Given the description of an element on the screen output the (x, y) to click on. 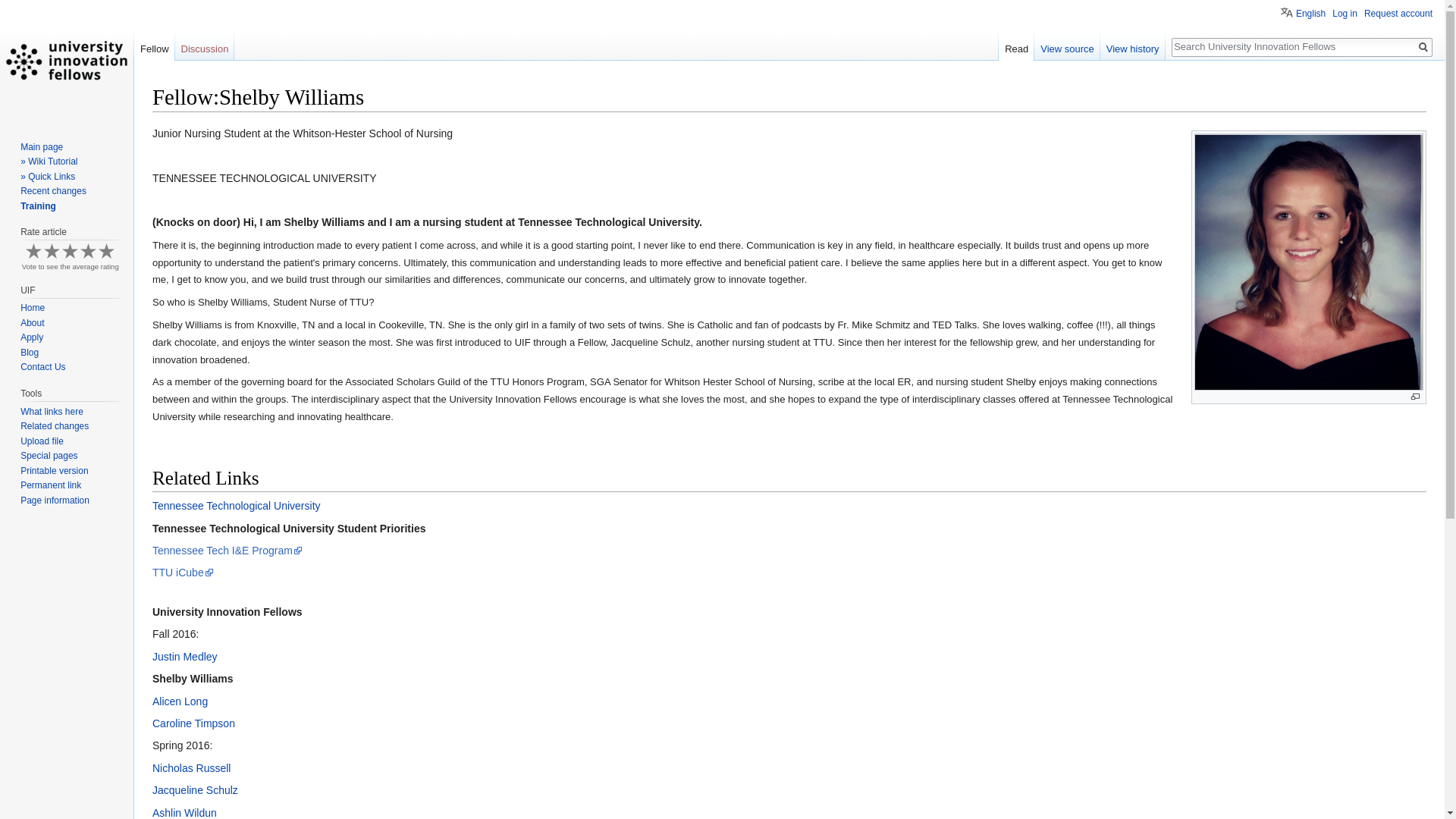
Nicholas Russell (191, 767)
English (1302, 11)
Tennessee Technological University (236, 505)
Jacqueline Schulz (195, 789)
Go (1423, 46)
Nicholas Russell (191, 767)
Ashlin Wildun (184, 812)
Justin Medley (184, 656)
Request account (1398, 13)
Jacqueline Schulz (195, 789)
Ashlin Wildun (184, 812)
Caroline timpson (193, 723)
Go (1423, 46)
Alicen long (180, 701)
Enlarge (1415, 397)
